Given the description of an element on the screen output the (x, y) to click on. 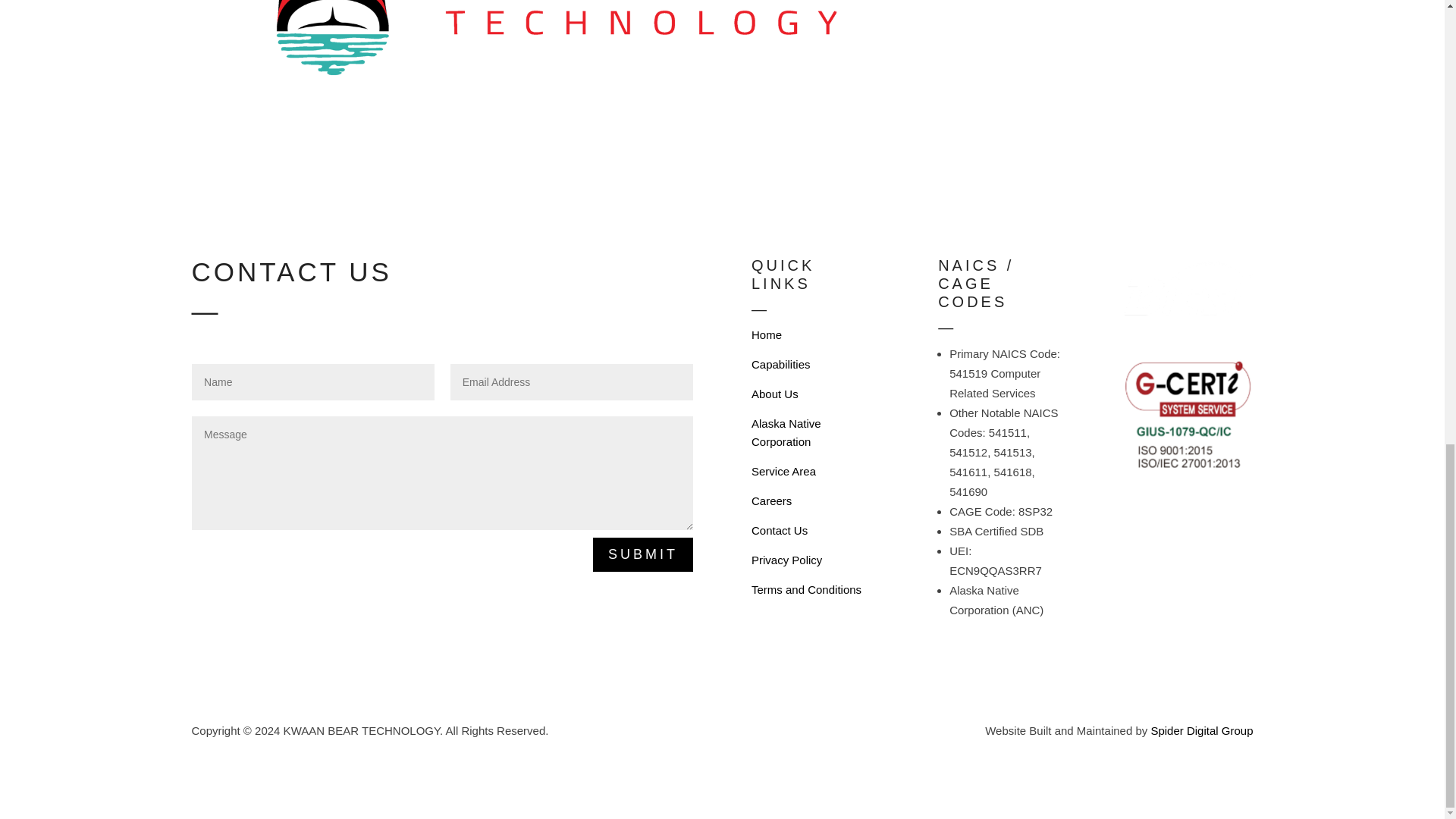
Alaska Native Corporation (786, 431)
Service Area (783, 471)
Untitled design - 2024-01-31T220218.057 (1188, 413)
Page 2 (1001, 636)
Capabilities (780, 364)
Privacy Policy (786, 559)
Spider Digital Group (1201, 730)
Untitled design - 2024-01-31T191136.631 (569, 49)
Terms and Conditions (806, 589)
Careers (771, 500)
